Given the description of an element on the screen output the (x, y) to click on. 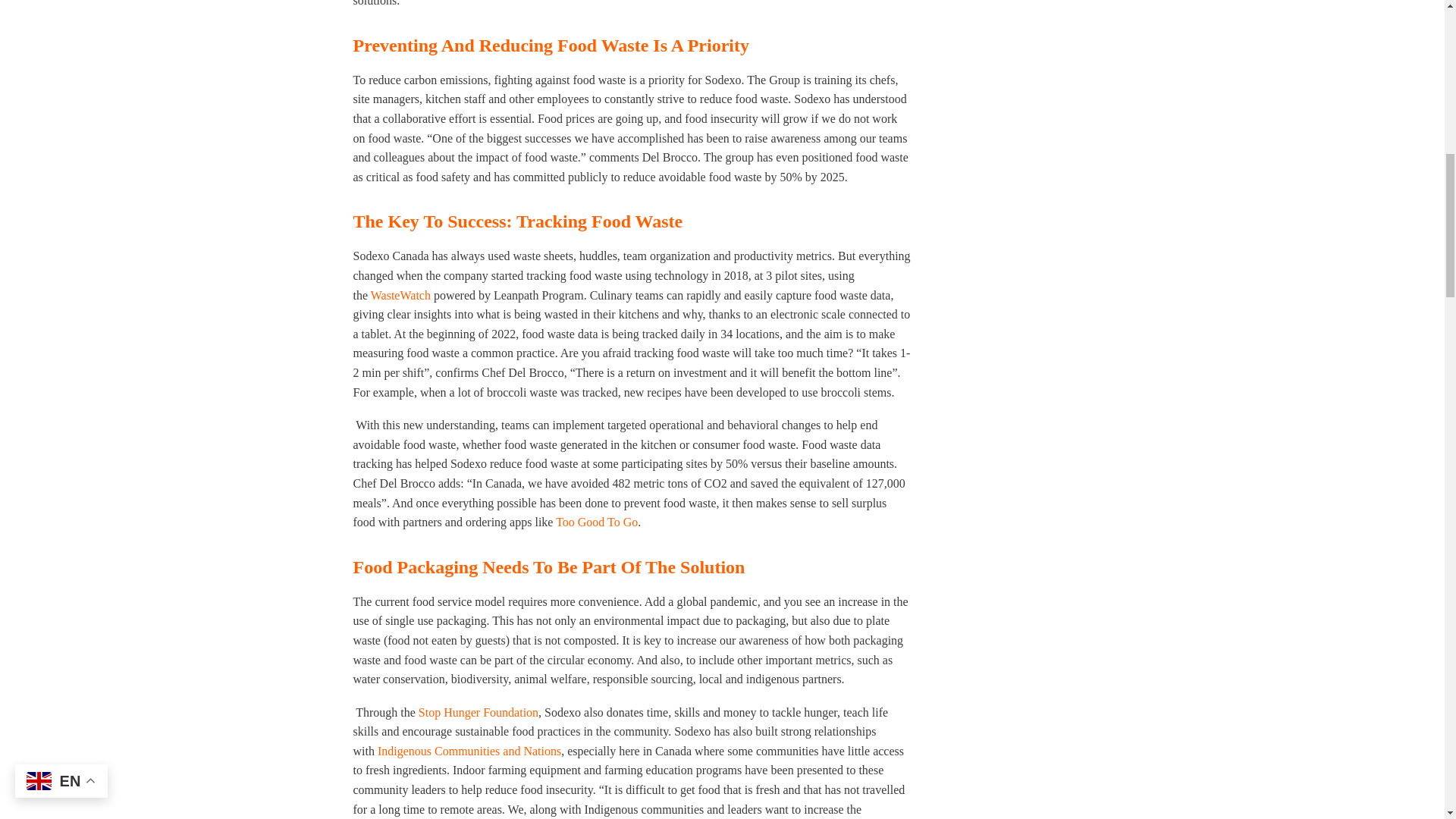
WasteWatch (400, 295)
Indigenous Communities and Nations (468, 750)
Too Good To Go (596, 521)
Stop Hunger Foundation (478, 712)
